Given the description of an element on the screen output the (x, y) to click on. 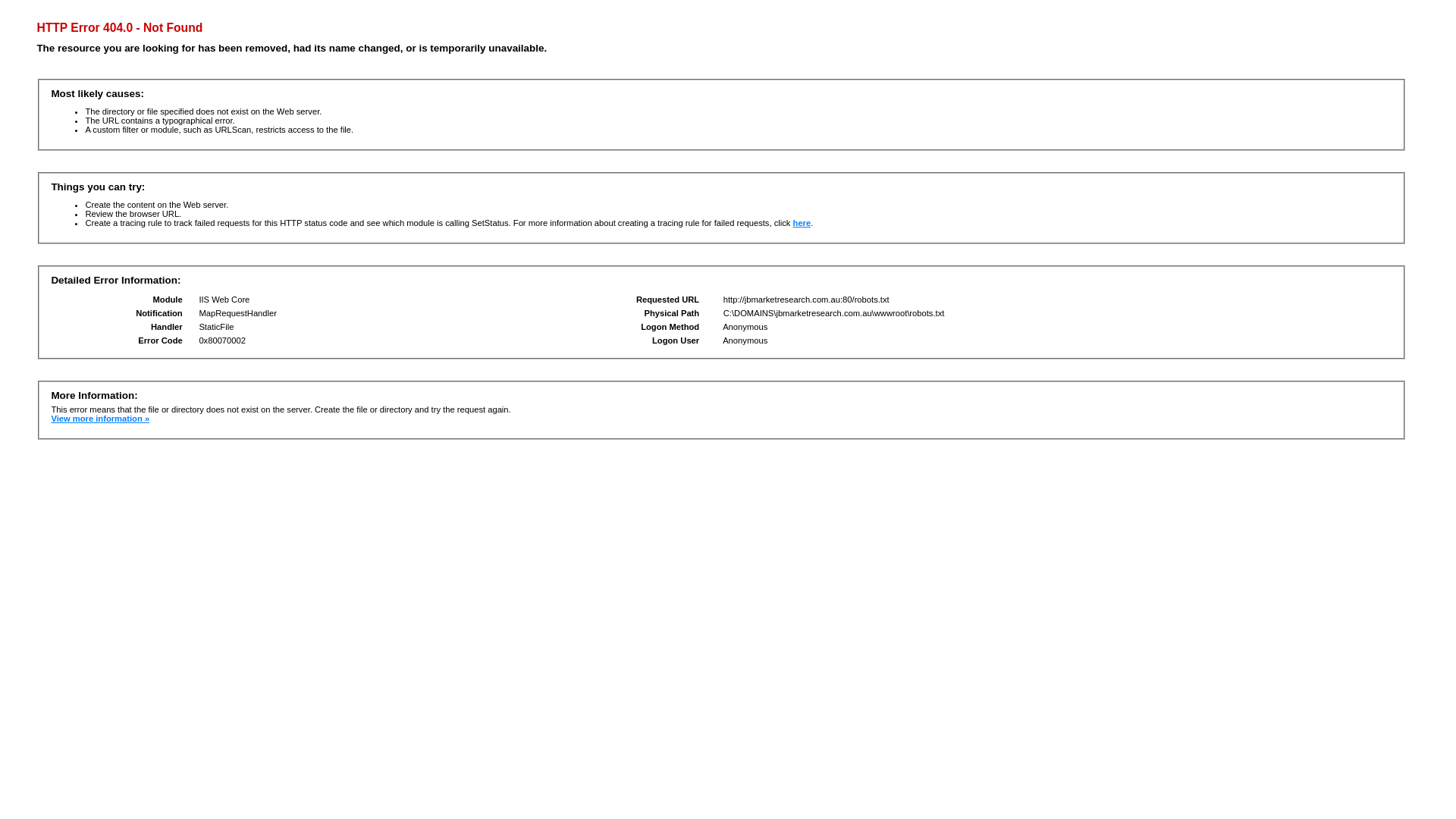
here Element type: text (802, 222)
